Given the description of an element on the screen output the (x, y) to click on. 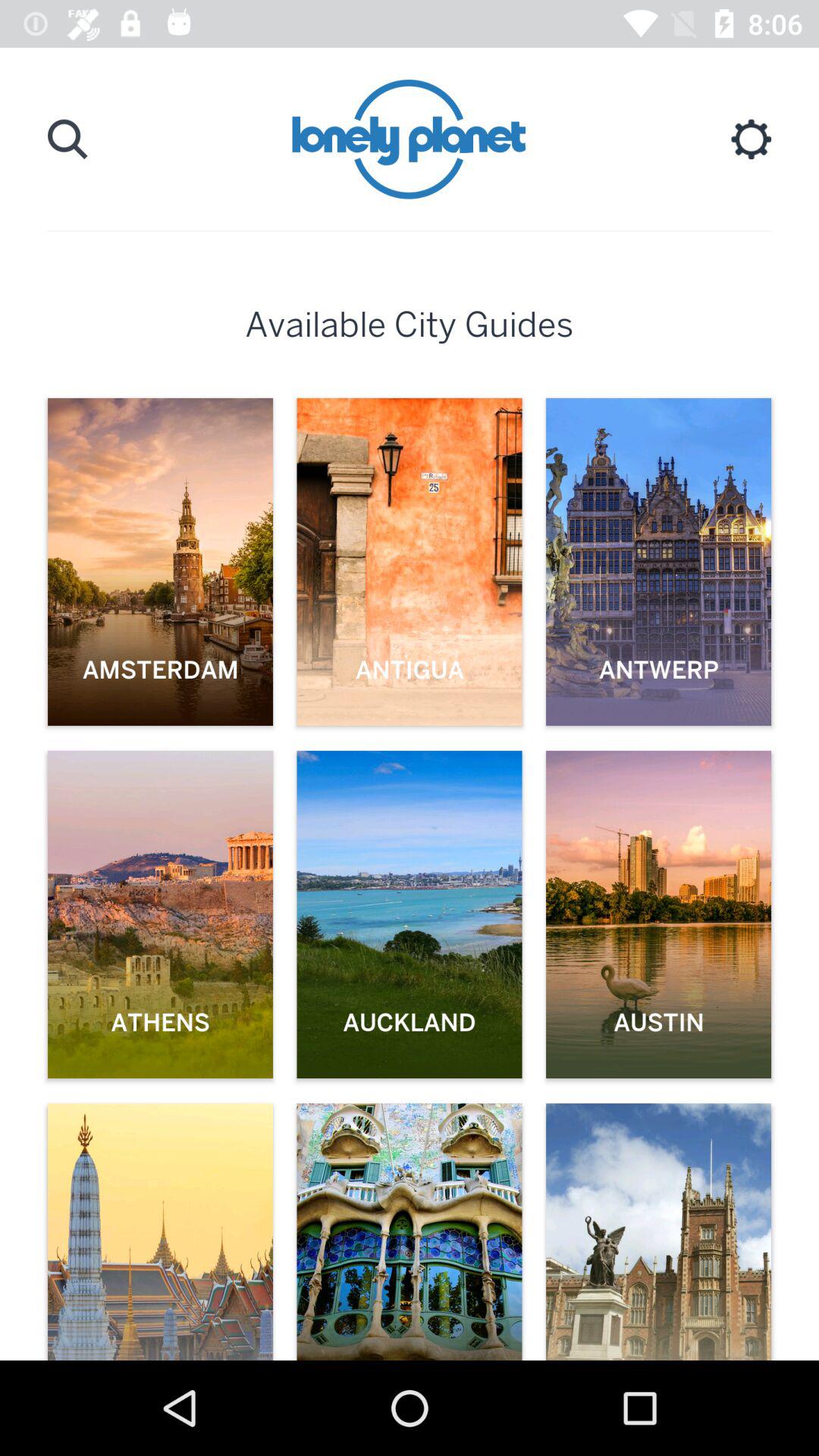
launch the item at the top right corner (751, 139)
